Given the description of an element on the screen output the (x, y) to click on. 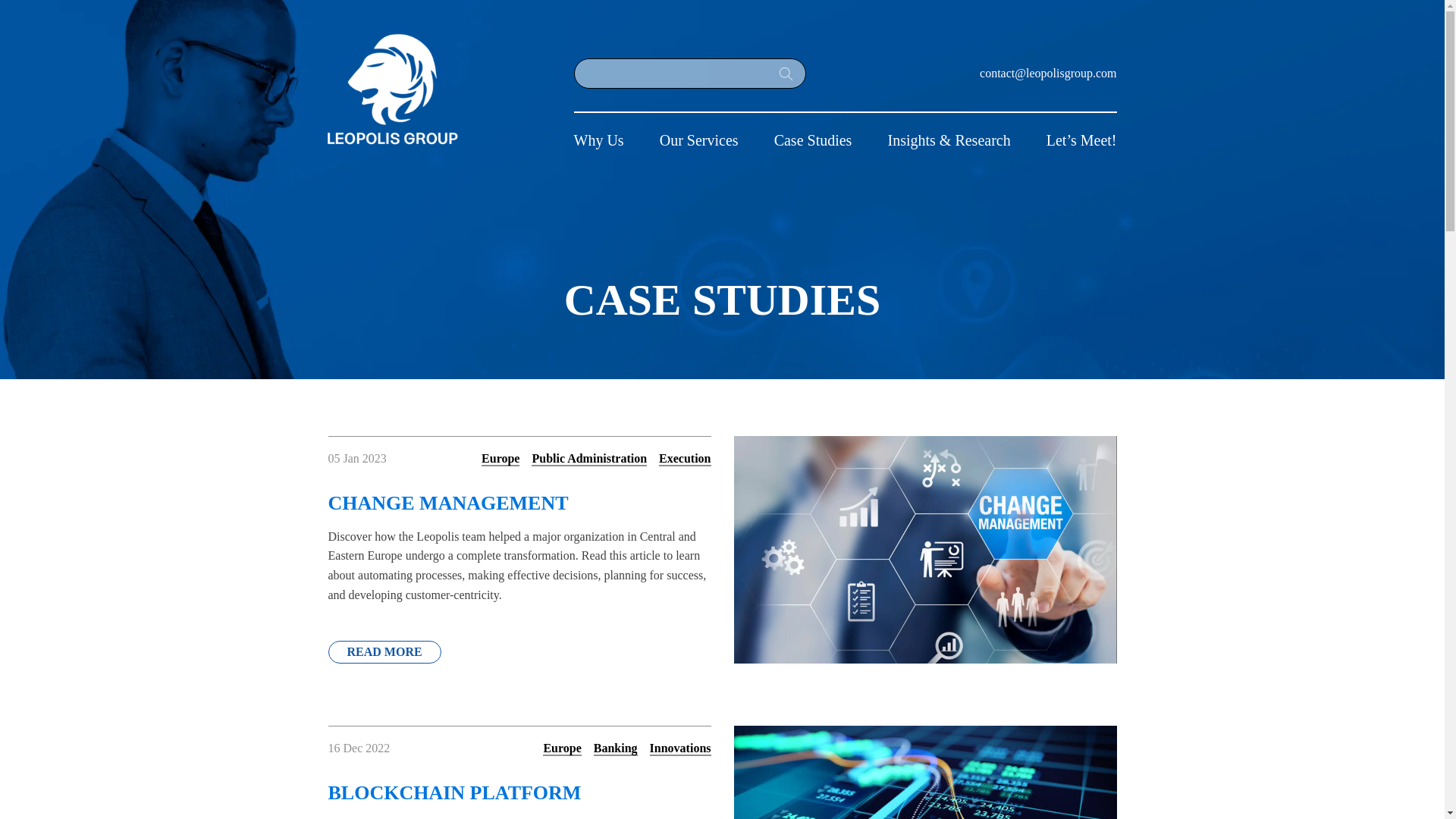
READ MORE (384, 651)
Europe (500, 459)
Banking (615, 748)
CHANGE MANAGEMENT (518, 491)
Our Services (698, 133)
Case Studies (812, 133)
BLOCKCHAIN PLATFORM (518, 781)
Why Us (598, 133)
Execution (684, 459)
Innovations (680, 748)
Europe (561, 748)
Public Administration (588, 459)
